Given the description of an element on the screen output the (x, y) to click on. 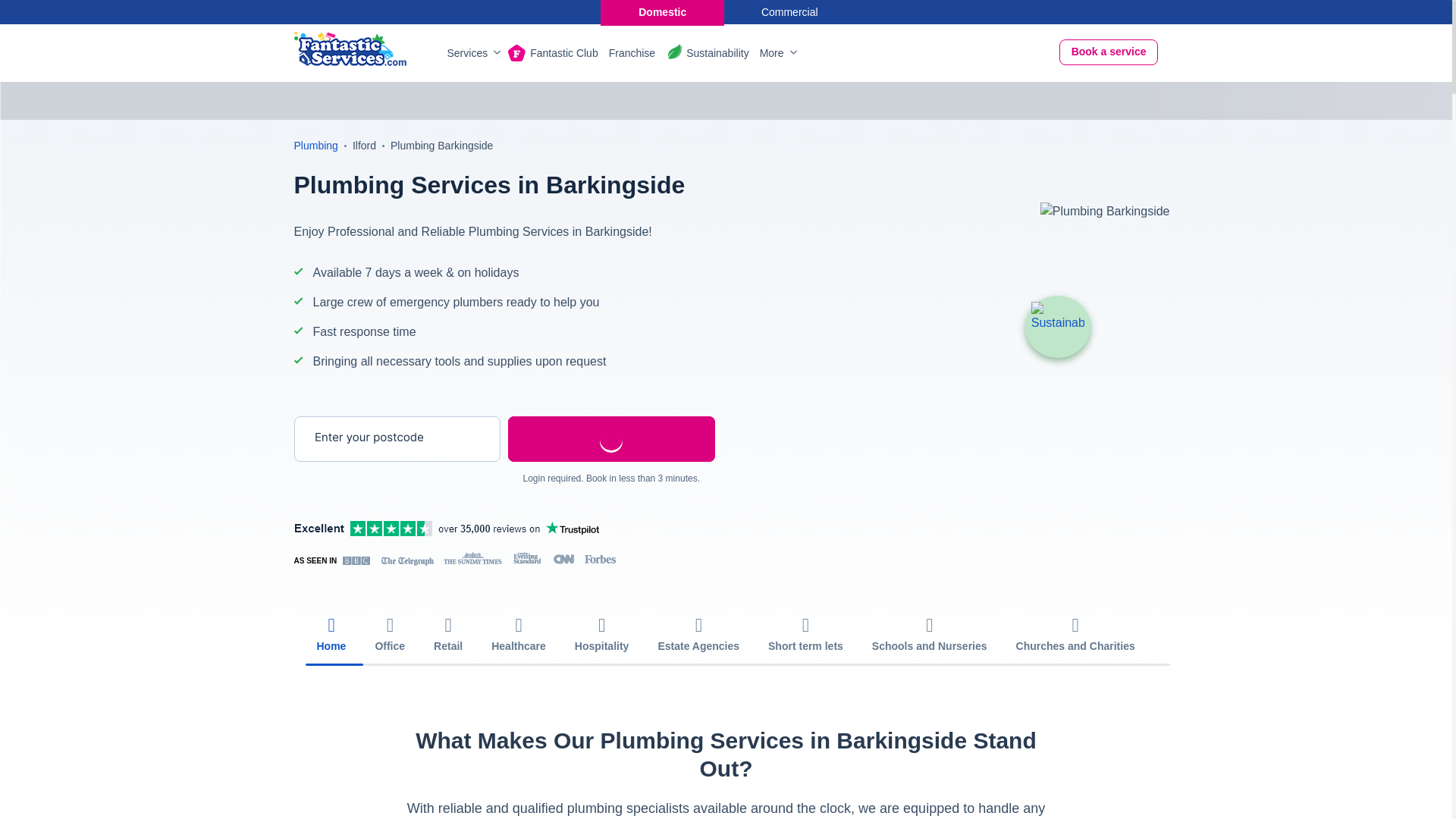
Book online (1108, 52)
Fantastic Services (350, 47)
For domestic clients (661, 12)
Retail (448, 634)
Commercial (789, 12)
For business clients (789, 12)
Domestic (661, 12)
Estate Agencies (698, 634)
Healthcare (518, 634)
Hospitality (601, 634)
More (777, 52)
Fantastic Club (563, 52)
Sustainability (1057, 327)
Book a service (1108, 52)
